Given the description of an element on the screen output the (x, y) to click on. 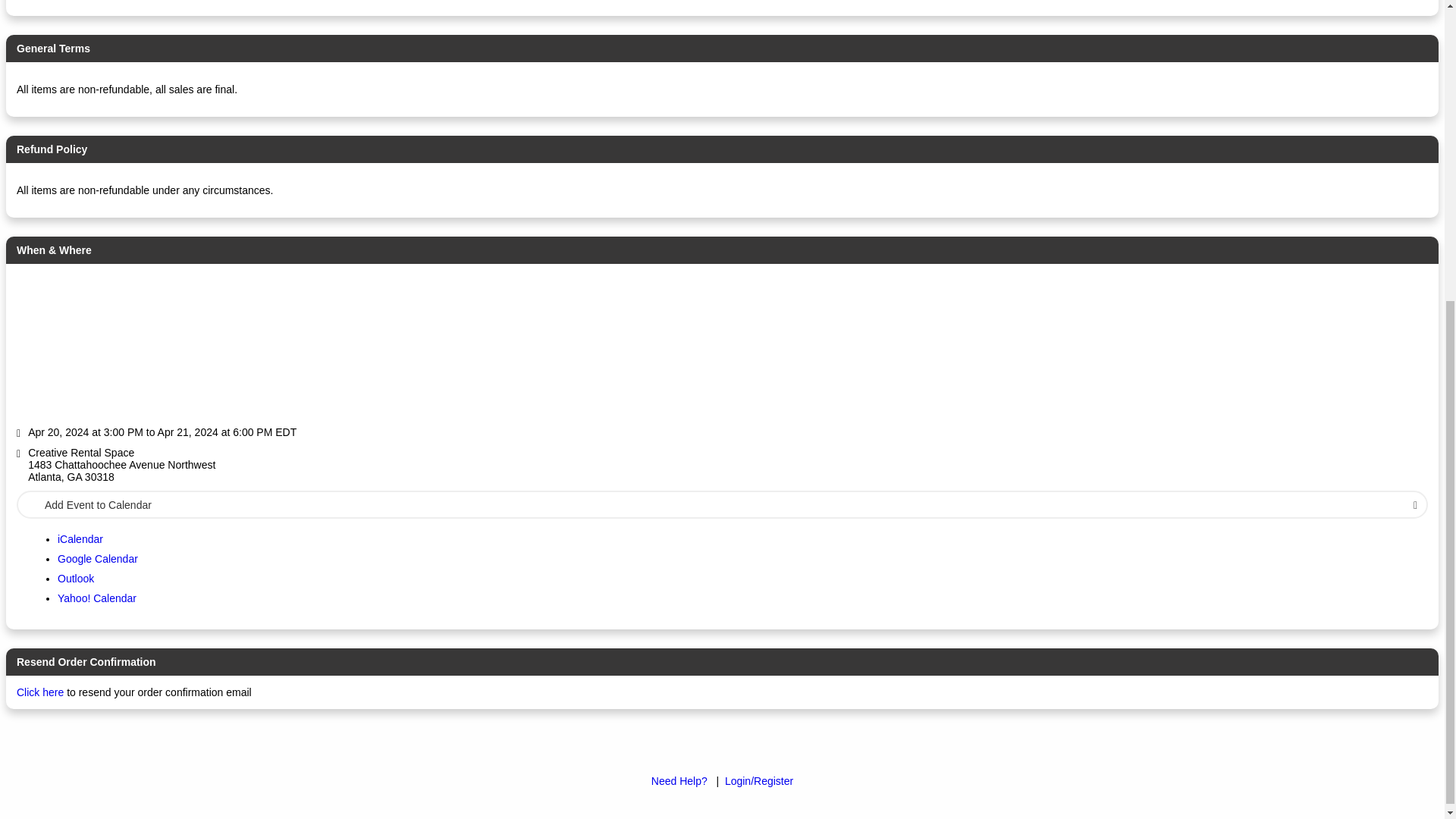
Add Event to Calendar (722, 504)
Google Calendar (98, 558)
iCalendar (80, 539)
Need Help? (678, 780)
Yahoo! Calendar (97, 598)
Outlook (76, 578)
Click here (40, 692)
